Given the description of an element on the screen output the (x, y) to click on. 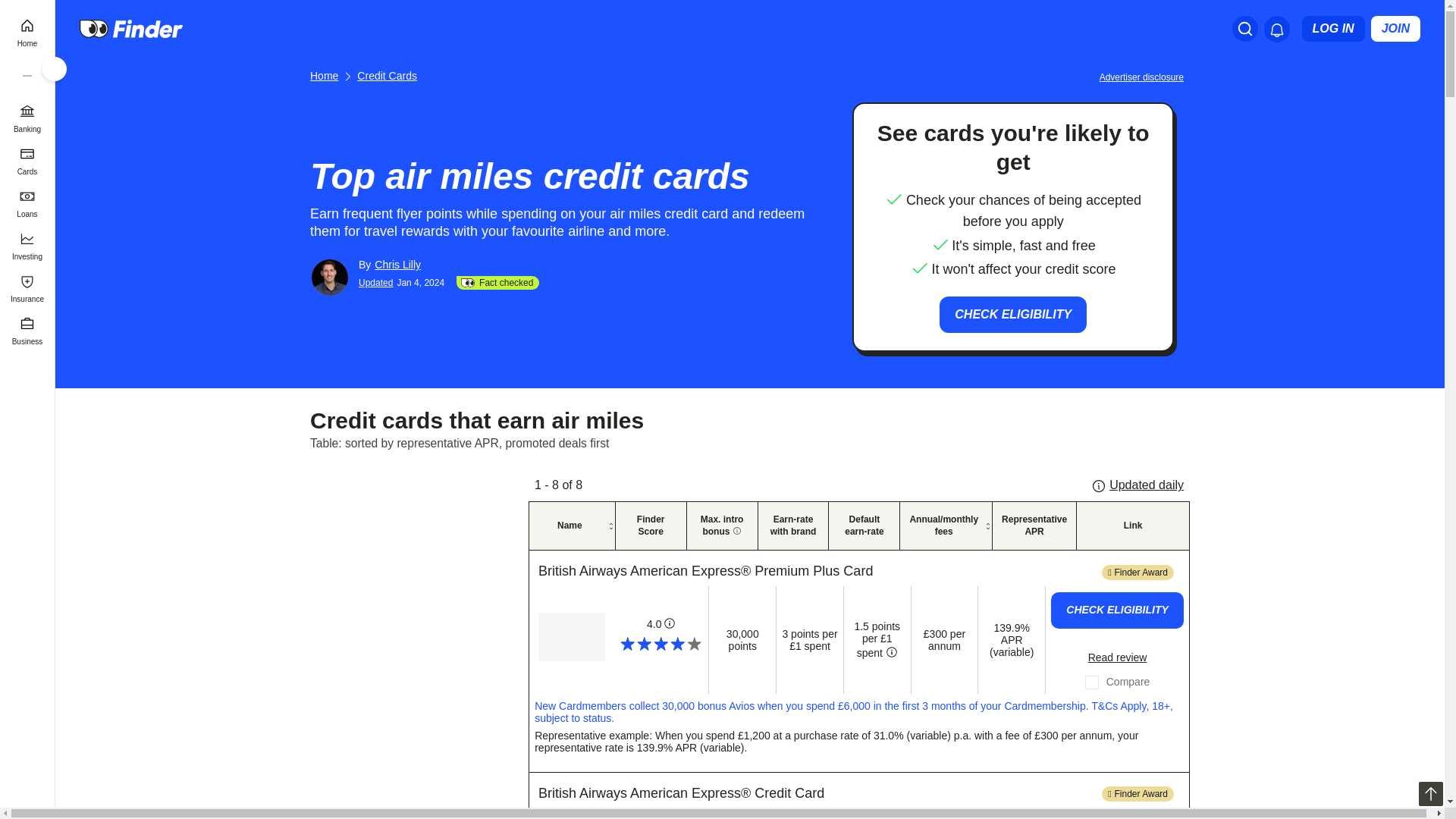
Important information about this website (1144, 76)
Check eligibility (1117, 816)
Check eligibility (1117, 610)
Read more about this card (1117, 657)
